Given the description of an element on the screen output the (x, y) to click on. 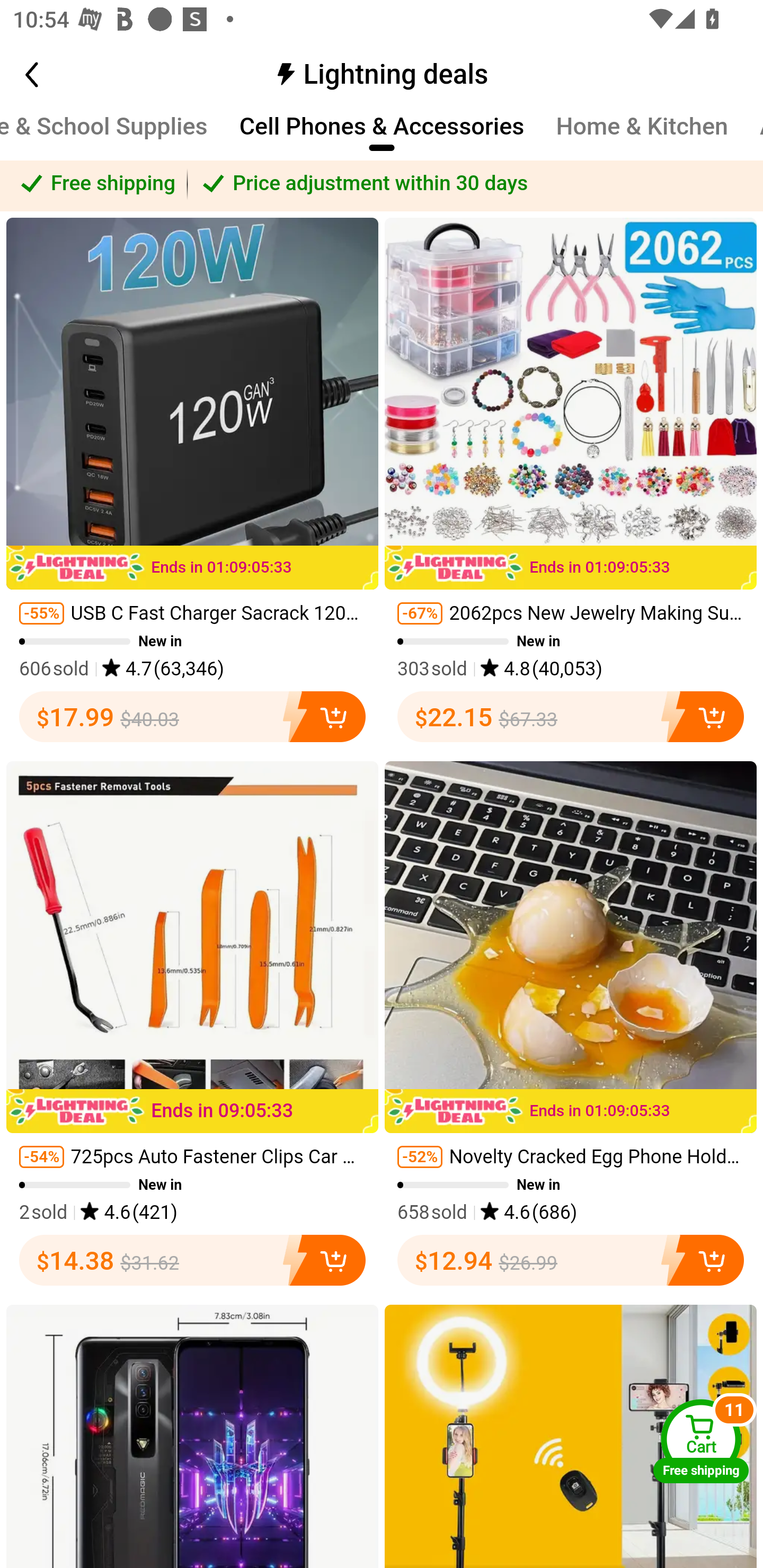
Back (50, 74)
Office & School Supplies (104, 134)
Cell Phones & Accessories (381, 134)
Home & Kitchen (641, 134)
Free shipping (94, 183)
Price adjustment within 30 days (475, 183)
$17.99 $40.03 (192, 716)
$22.15 $67.33 (570, 716)
$14.38 $31.62 (192, 1260)
$12.94 $26.99 (570, 1260)
Cart Free shipping Cart (701, 1440)
